Given the description of an element on the screen output the (x, y) to click on. 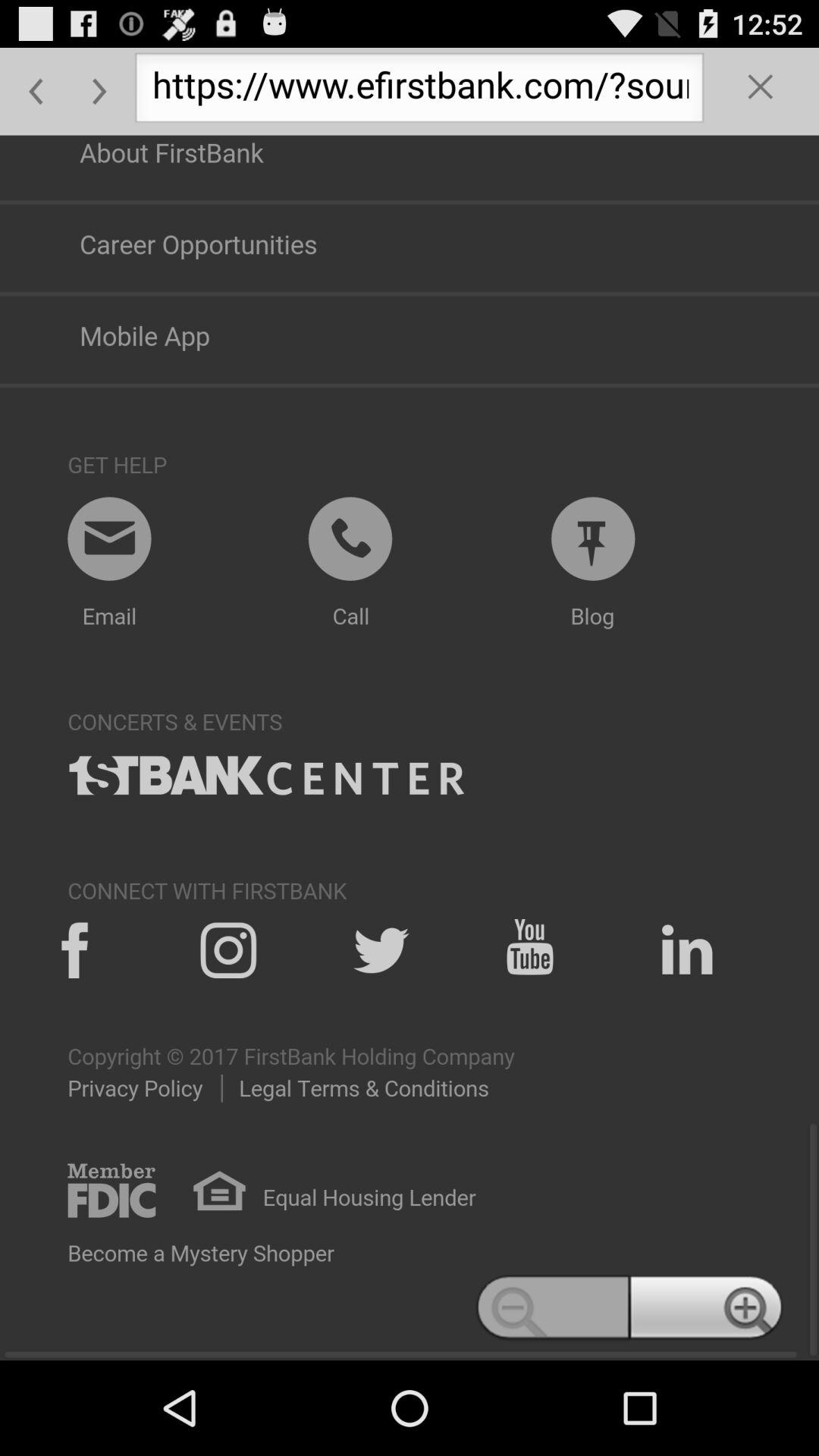
exit page (761, 91)
